Given the description of an element on the screen output the (x, y) to click on. 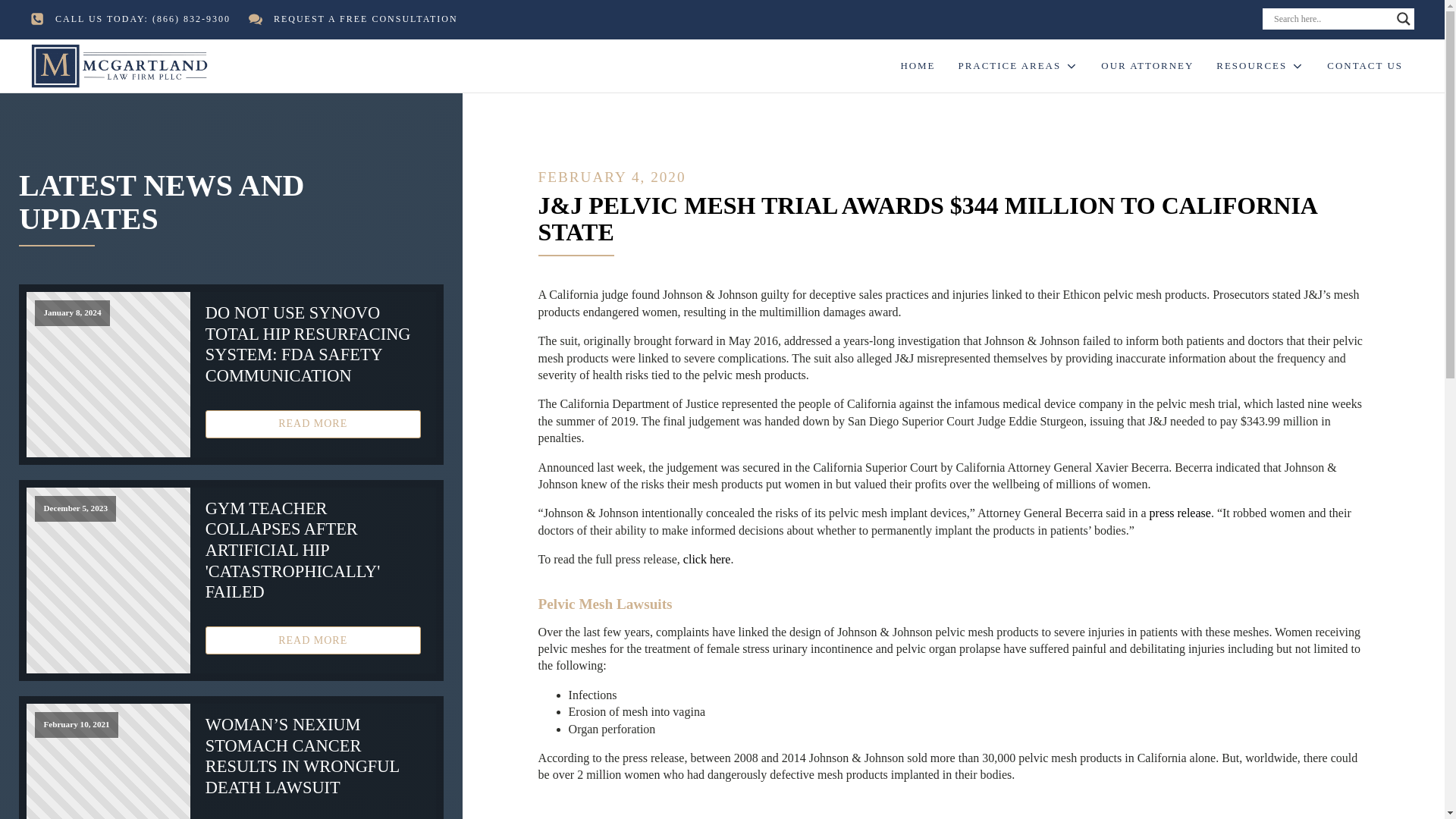
REQUEST A FREE CONSULTATION (365, 19)
